Given the description of an element on the screen output the (x, y) to click on. 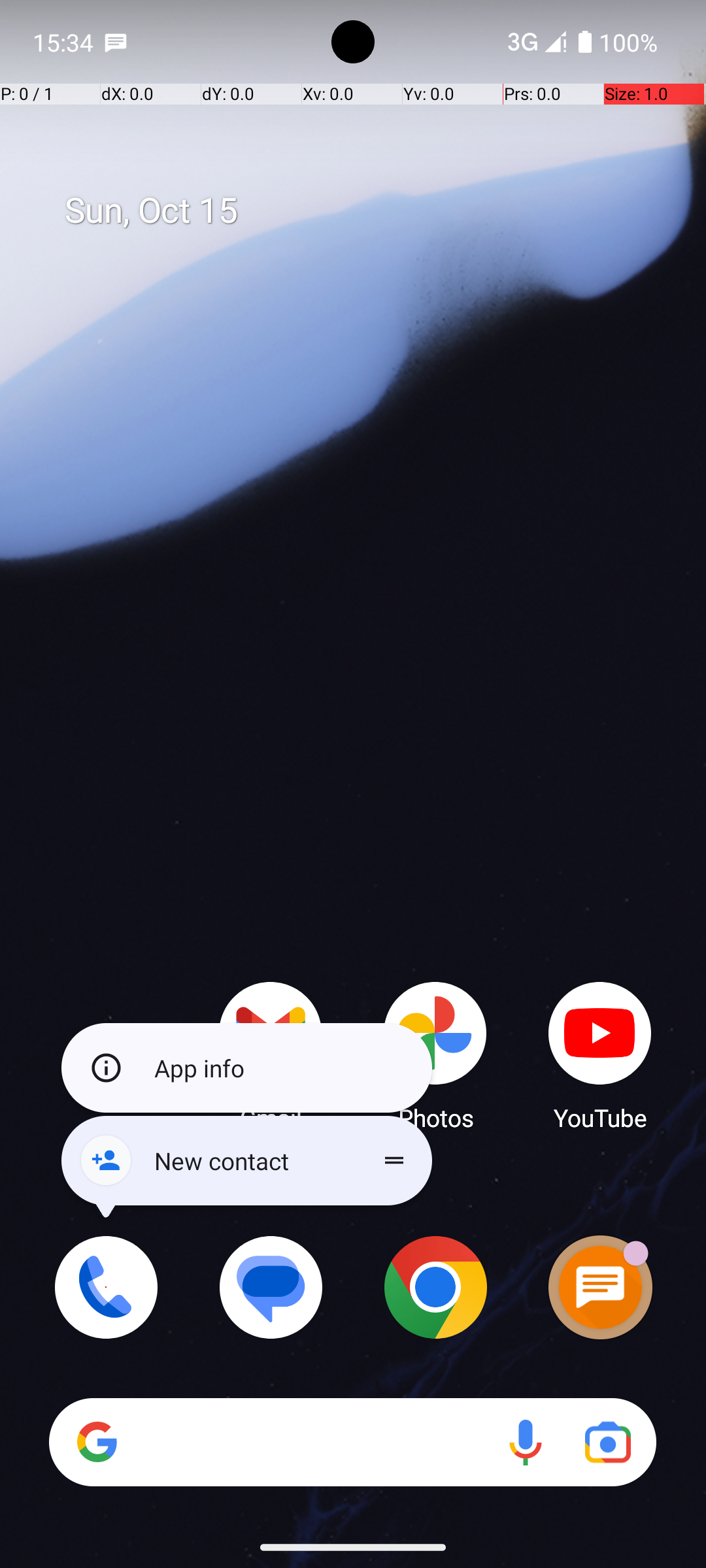
New contact Element type: android.widget.TextView (246, 1160)
App info Element type: android.widget.TextView (246, 1067)
